Given the description of an element on the screen output the (x, y) to click on. 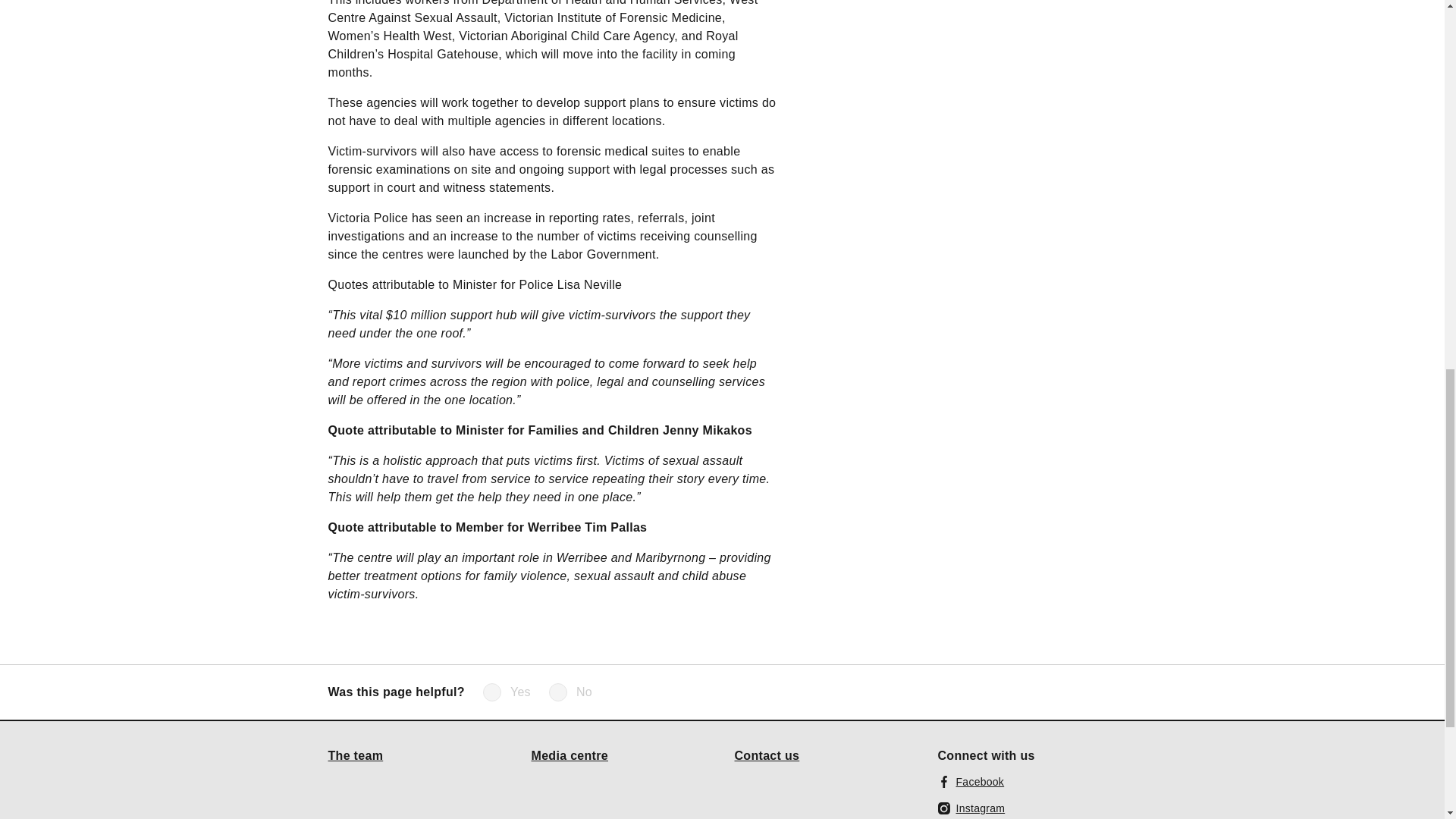
The team (354, 755)
Media centre (569, 755)
Contact us (766, 755)
Facebook (970, 780)
Instagram (970, 807)
